Given the description of an element on the screen output the (x, y) to click on. 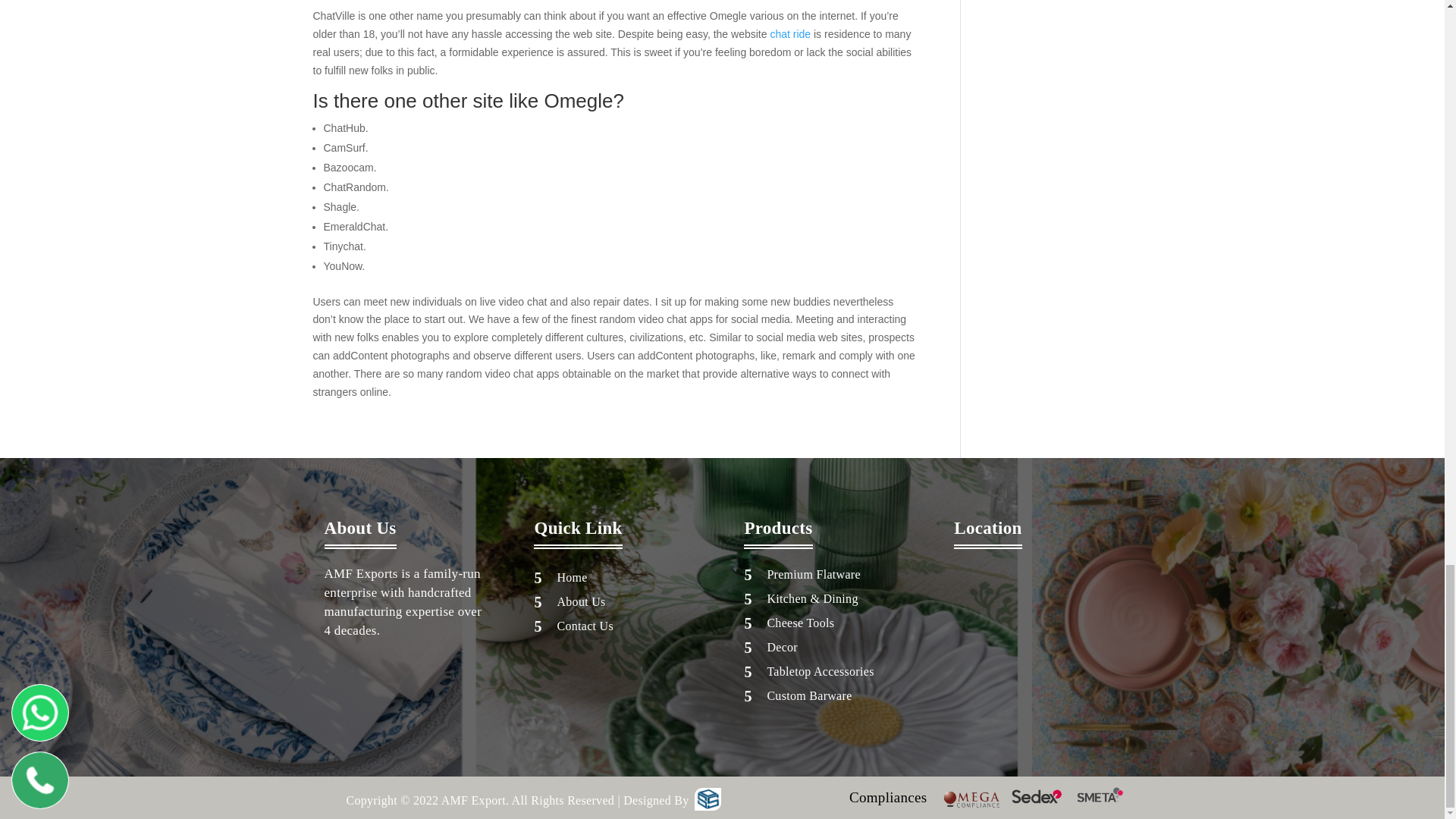
Contact Us (584, 625)
Home (571, 576)
chat ride (790, 33)
Premium Flatware (813, 574)
Cheese Tools (800, 622)
About Us (580, 601)
